Given the description of an element on the screen output the (x, y) to click on. 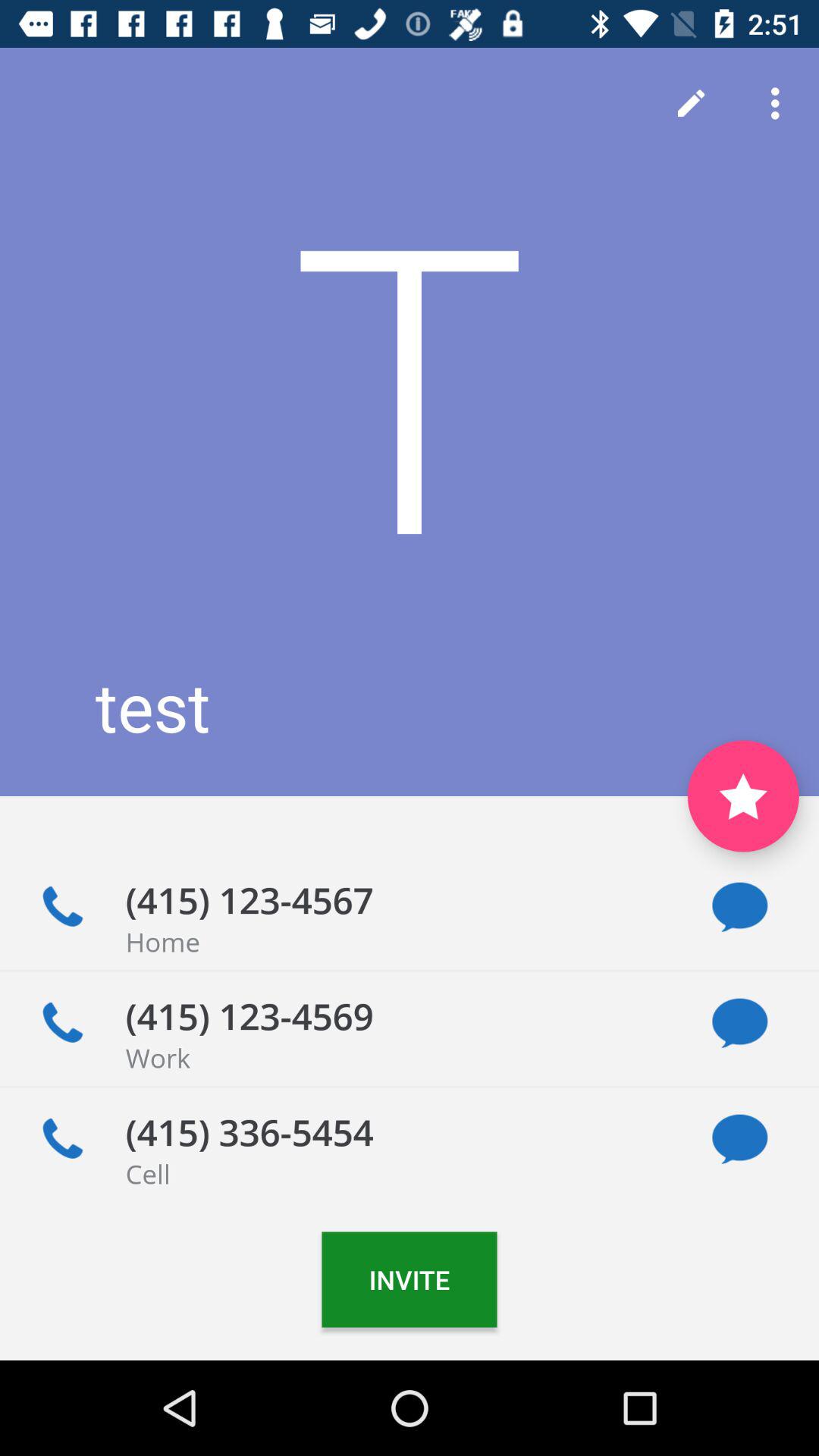
send message (739, 1139)
